Given the description of an element on the screen output the (x, y) to click on. 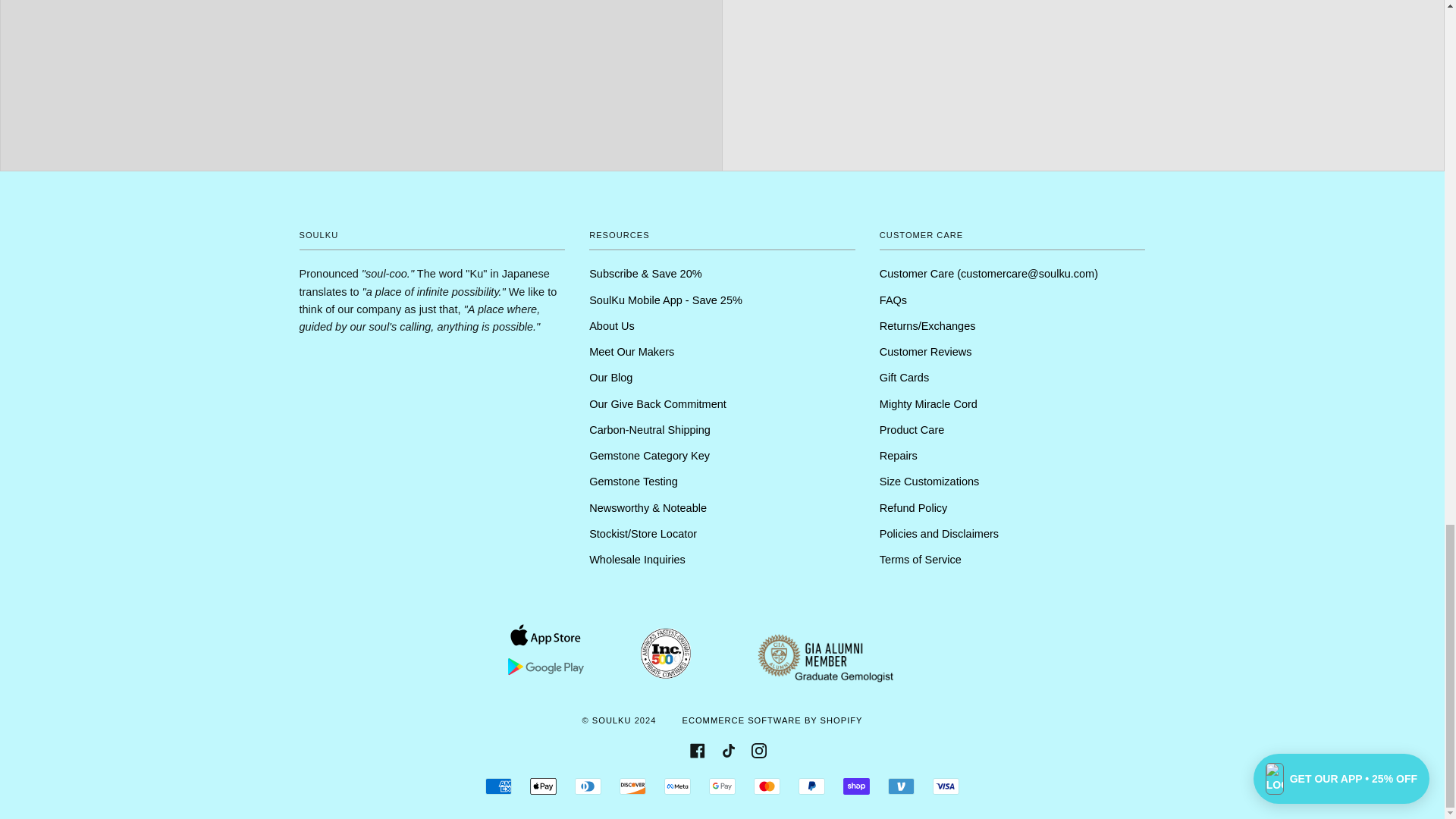
MASTERCARD (767, 786)
Facebook (697, 749)
Instagram (759, 749)
Tiktok (727, 749)
DINERS CLUB (588, 786)
GOOGLE PAY (722, 786)
SHOP PAY (856, 786)
APPLE PAY (542, 786)
VISA (946, 786)
AMERICAN EXPRESS (498, 786)
